Given the description of an element on the screen output the (x, y) to click on. 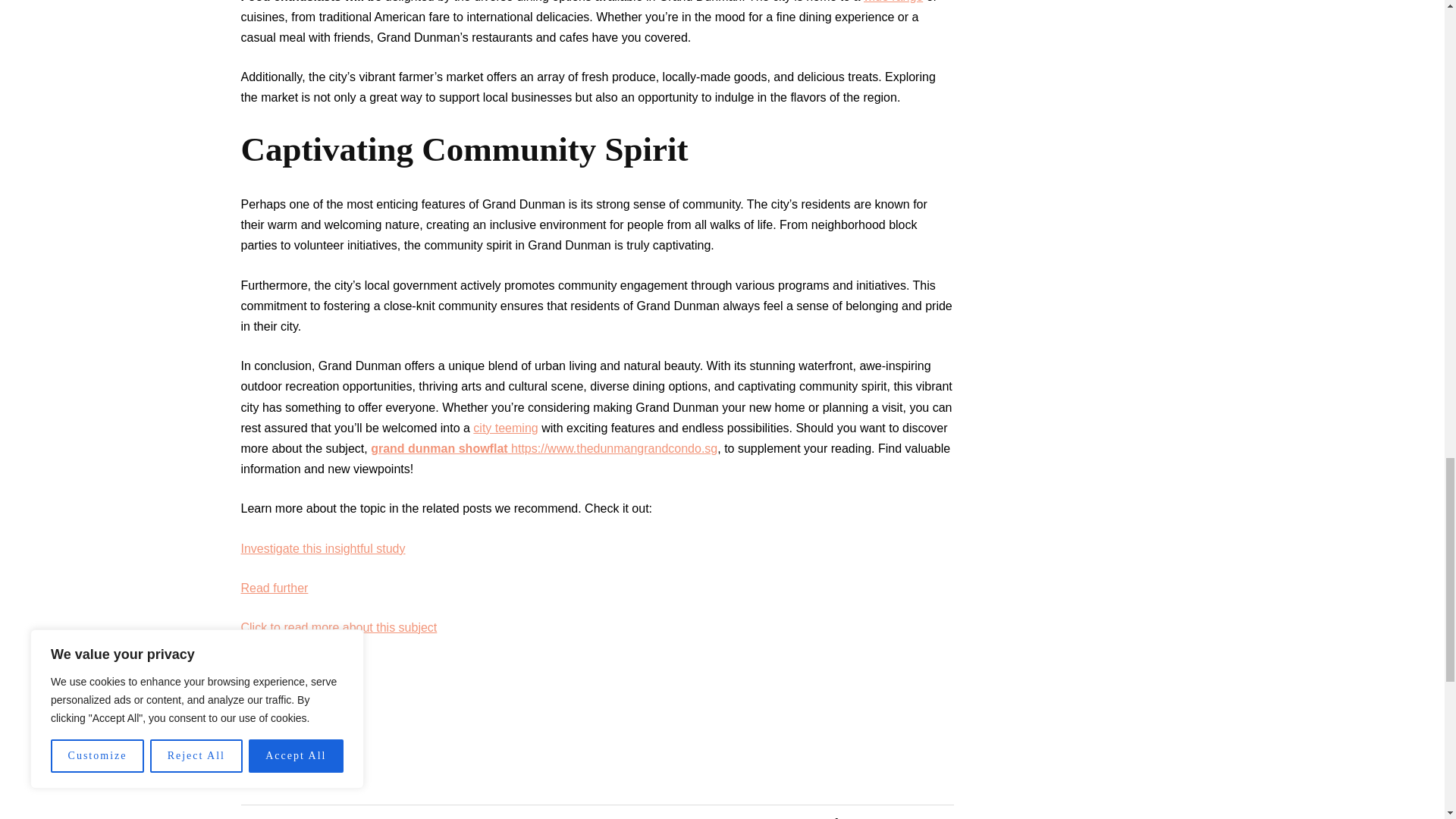
Investigate this insightful study (323, 548)
Read further (274, 587)
Inquire now (272, 666)
wide range (893, 1)
city teeming (505, 427)
Click to read more about this subject (339, 626)
